Given the description of an element on the screen output the (x, y) to click on. 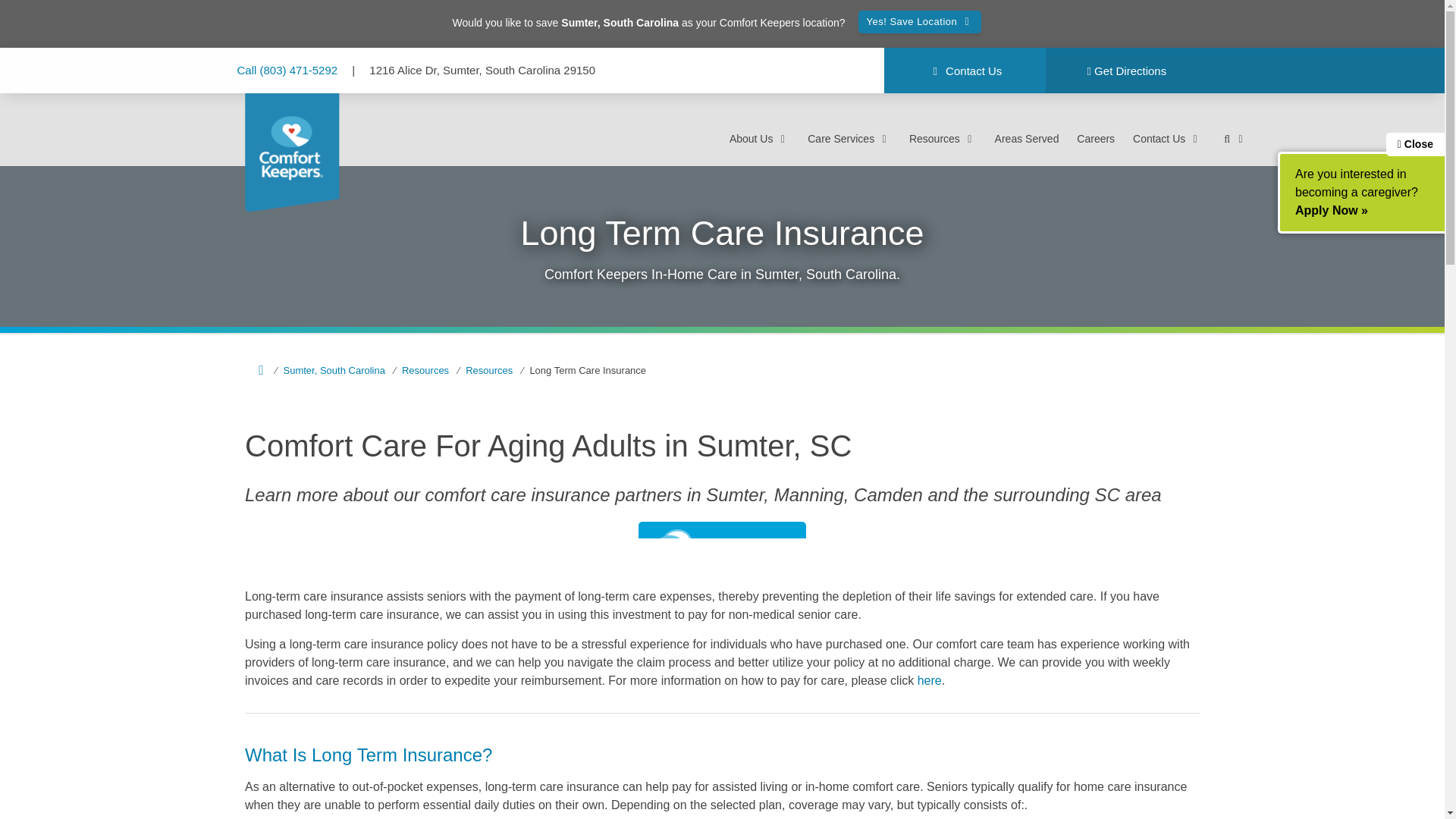
Call Us (287, 69)
Resources (481, 369)
Contact Us (964, 71)
Resources (942, 138)
Long Term Care Insurance (580, 369)
Resources (418, 369)
Areas Served (1026, 138)
Careers (1096, 138)
Get Directions (1126, 71)
Contact Us (1167, 138)
